Given the description of an element on the screen output the (x, y) to click on. 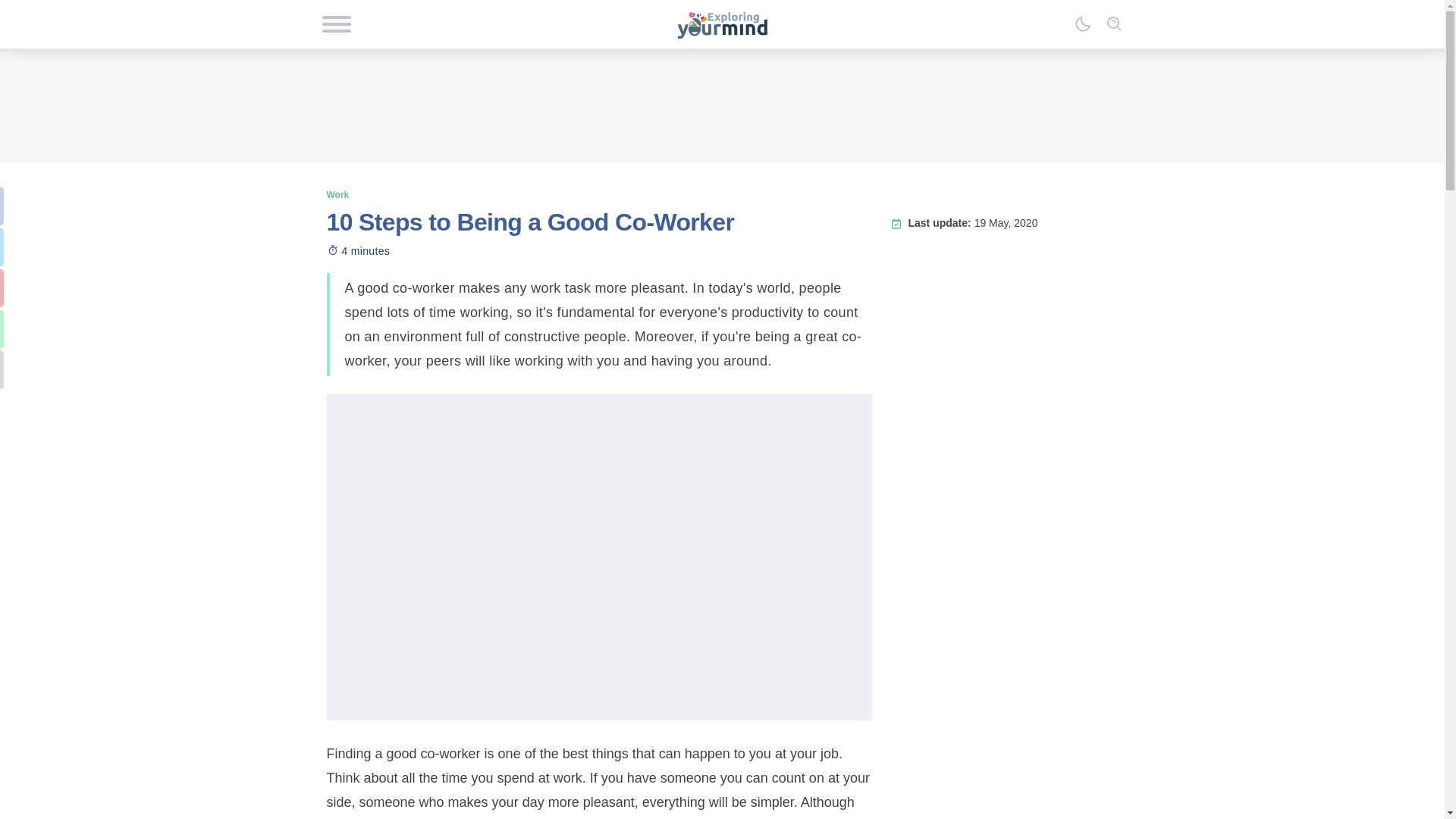
Work (337, 193)
Work (337, 193)
